Given the description of an element on the screen output the (x, y) to click on. 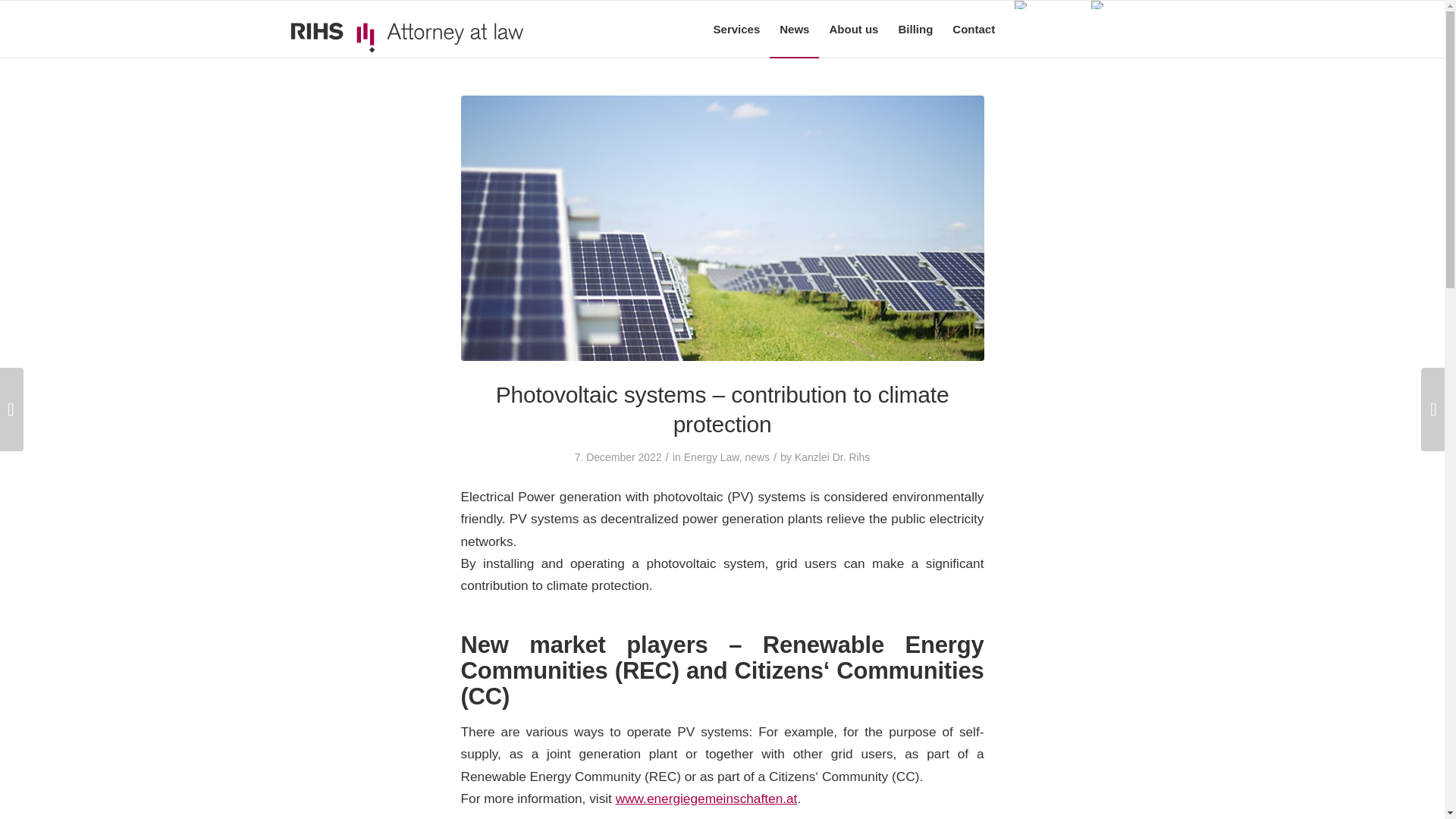
English (1117, 4)
news (757, 457)
Billing (915, 28)
www.energiegemeinschaften.at (706, 798)
Kanzlei Dr. Rihs (831, 457)
Deutsch (1042, 4)
Energy Law (711, 457)
About us (853, 28)
Services (736, 28)
Contact (973, 28)
Posts by Kanzlei Dr. Rihs (831, 457)
